Given the description of an element on the screen output the (x, y) to click on. 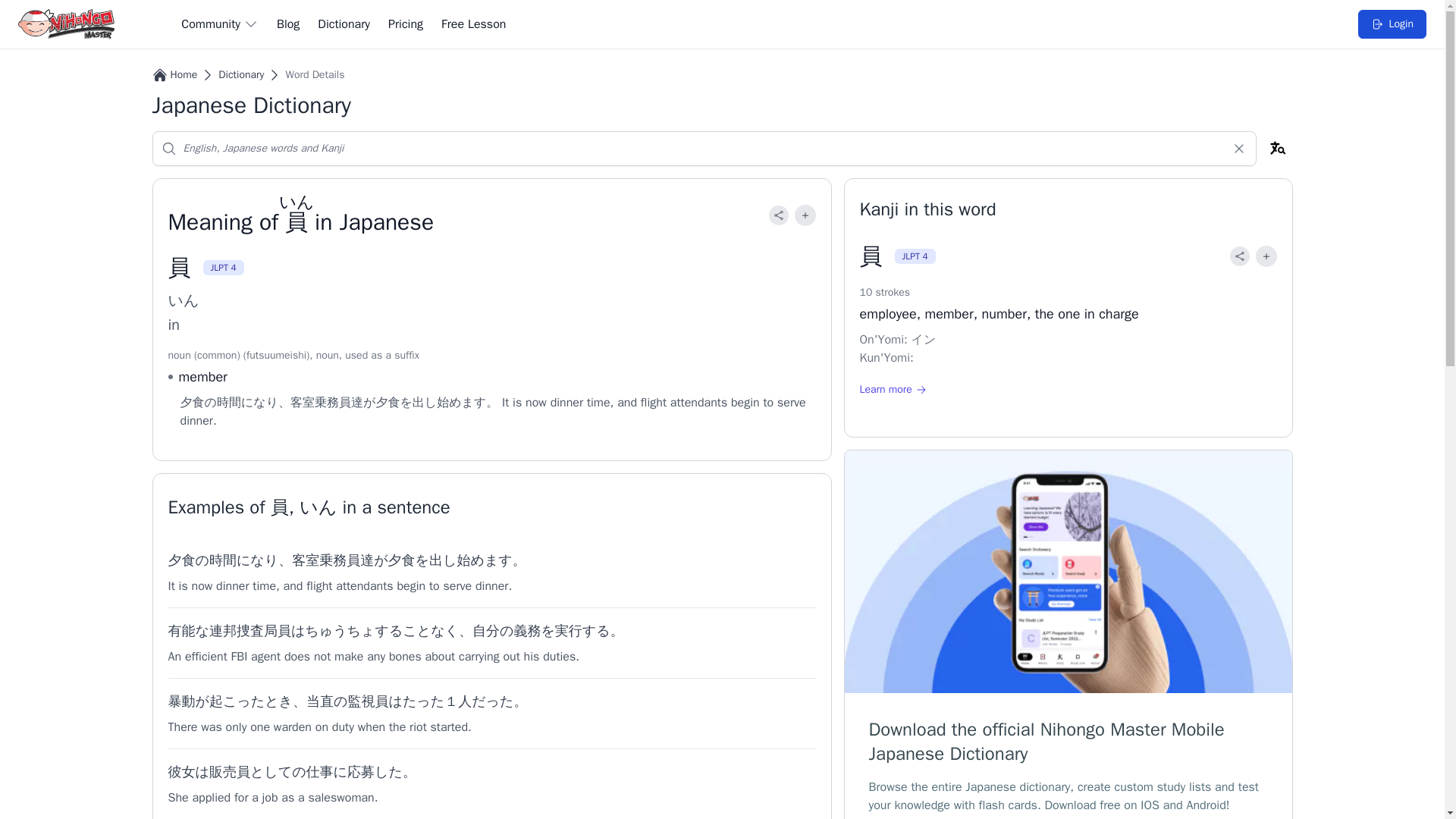
time, hours (222, 560)
Dictionary (343, 24)
drawing room; guest room (305, 560)
time, hours (228, 402)
evening meal; dinner (386, 402)
Blog (287, 24)
Community (219, 24)
Login (1392, 23)
evening meal; dinner (401, 560)
evening meal; dinner (181, 560)
Free Lesson (473, 24)
Word Details (314, 74)
Dictionary (240, 74)
Home (183, 74)
doing transport-related work (326, 402)
